Given the description of an element on the screen output the (x, y) to click on. 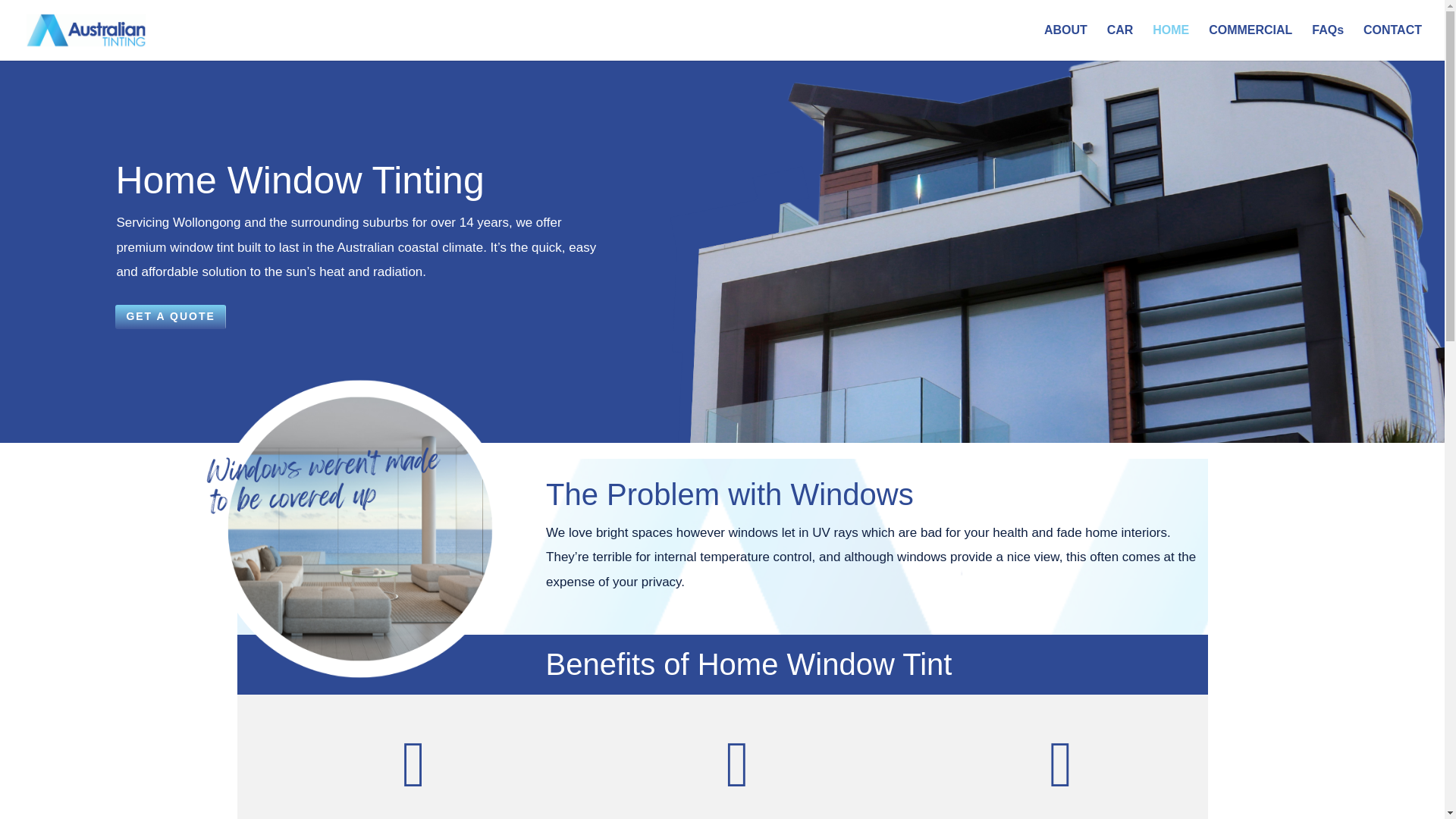
ABOUT (1065, 42)
FAQs (1327, 42)
HOME (1171, 42)
COMMERCIAL (1250, 42)
CONTACT (1392, 42)
GET A QUOTE (170, 316)
